Given the description of an element on the screen output the (x, y) to click on. 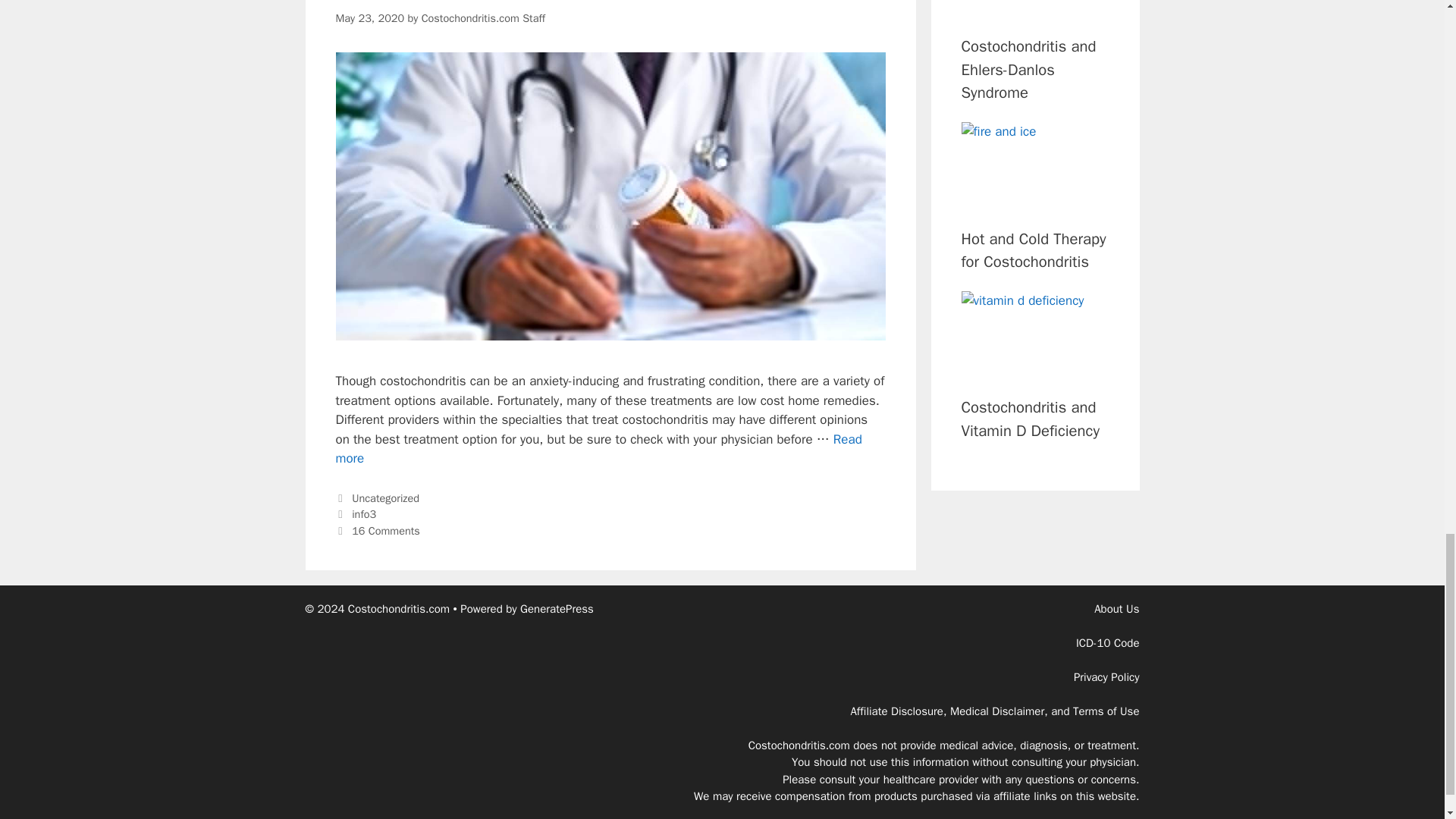
Uncategorized (385, 498)
10:03 pm (369, 18)
info3 (363, 513)
Costochondritis Treatments (597, 448)
May 23, 2020 (369, 18)
View all posts by Costochondritis.com Staff (483, 18)
16 Comments (597, 448)
Costochondritis Treatments (386, 530)
Costochondritis.com Staff (472, 2)
